Given the description of an element on the screen output the (x, y) to click on. 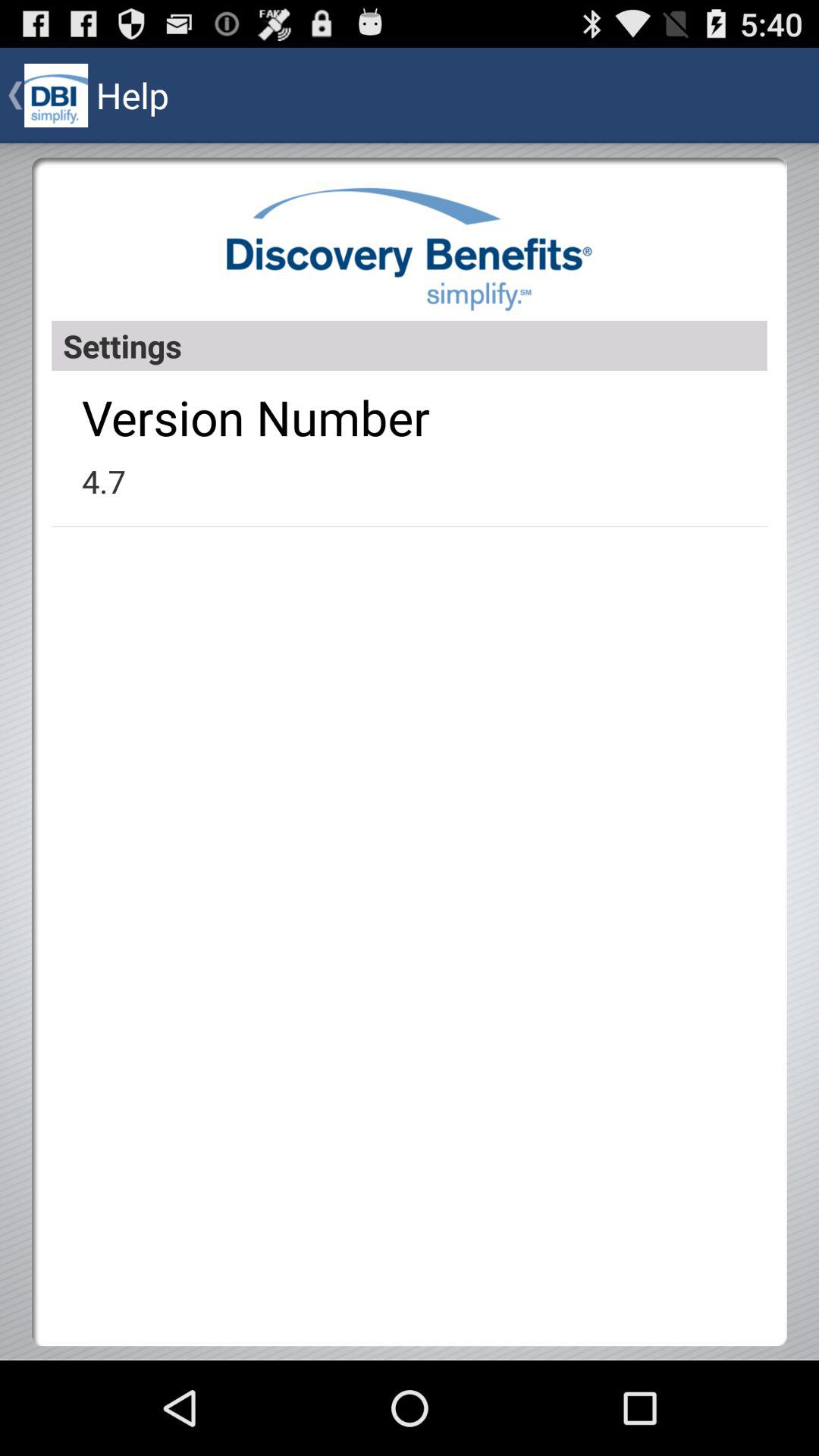
turn on icon below the settings icon (255, 417)
